Given the description of an element on the screen output the (x, y) to click on. 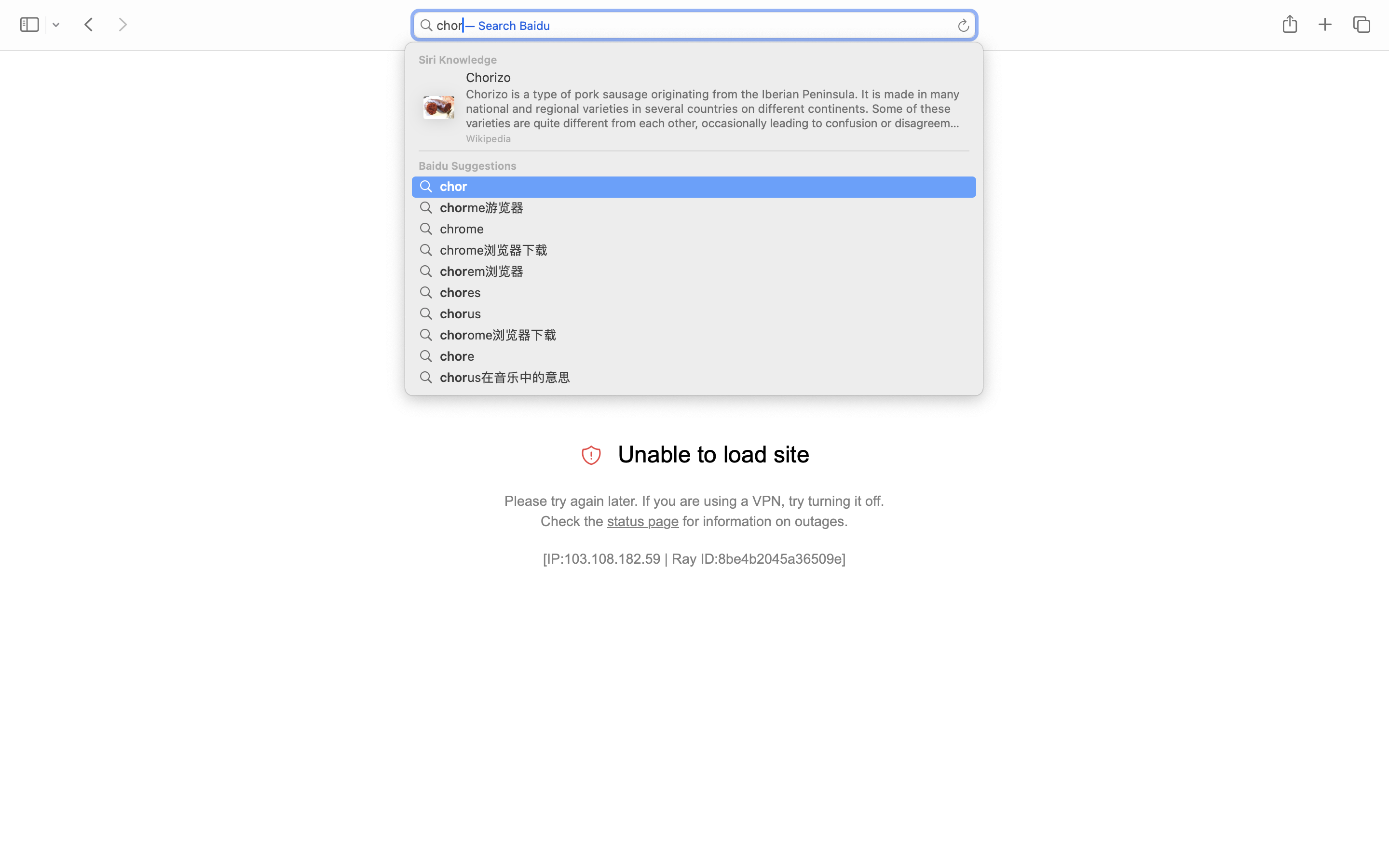
Unable to load site Element type: AXStaticText (713, 453)
[IP:103.108.182.59 | Ray ID:8be4b2045a36509e] Element type: AXStaticText (694, 558)
chorome浏览器下载 Element type: AXStaticText (499, 333)
chores Element type: AXStaticText (461, 290)
chrome浏览器下载 Element type: AXStaticText (494, 248)
